Given the description of an element on the screen output the (x, y) to click on. 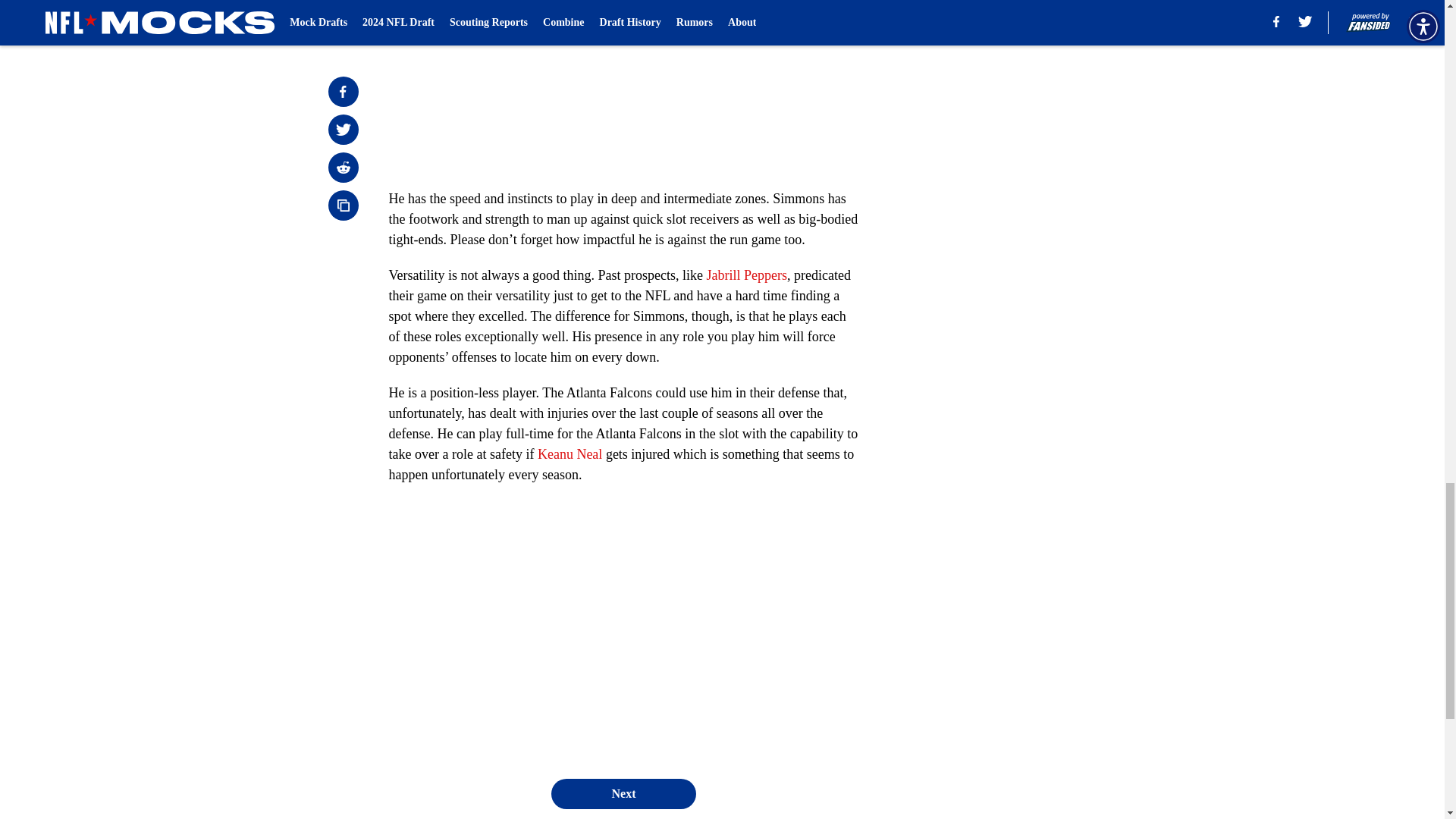
Next (622, 793)
Jabrill Peppers (746, 274)
Keanu Neal (569, 453)
